Given the description of an element on the screen output the (x, y) to click on. 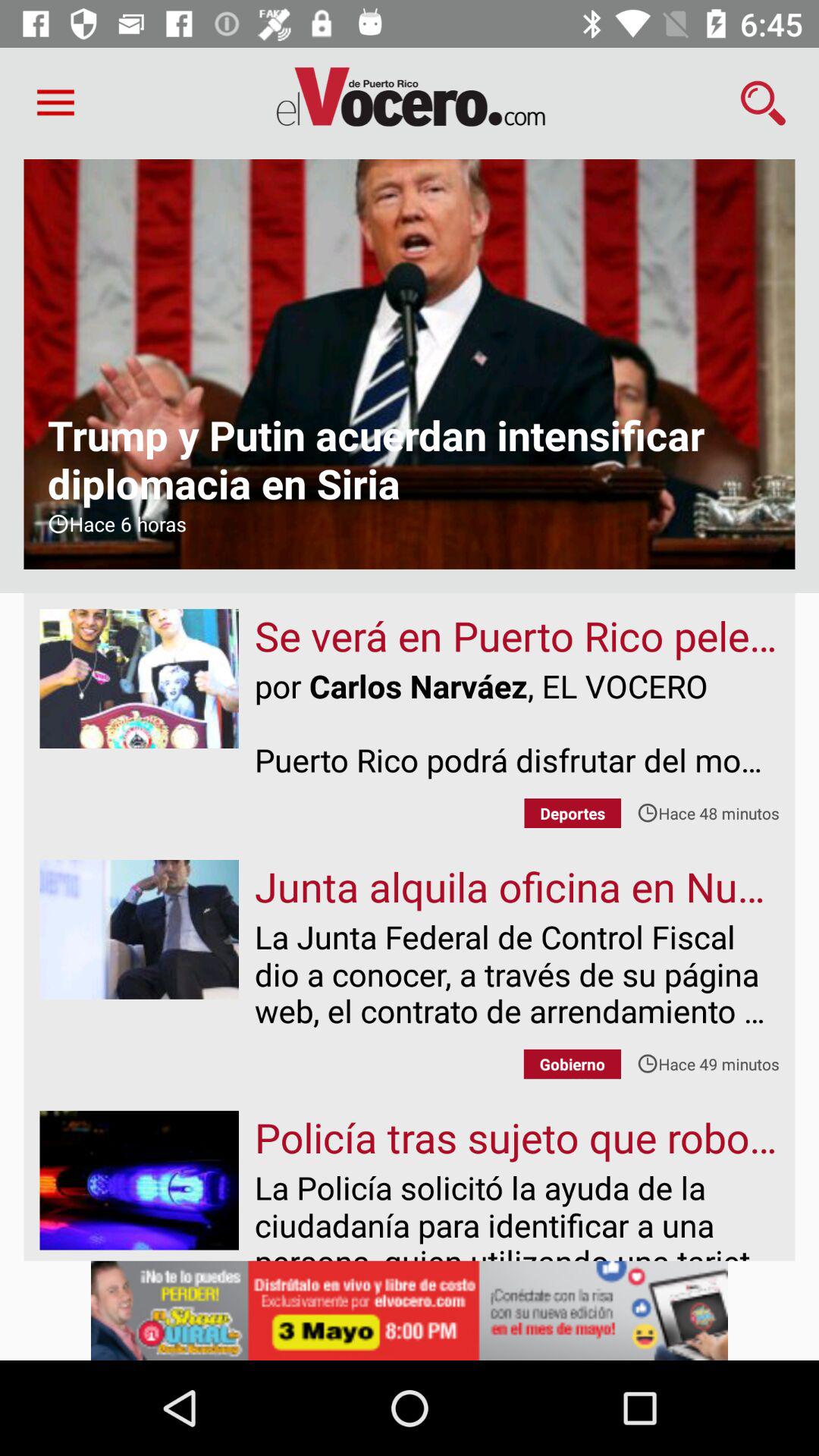
advertisement (409, 1310)
